Given the description of an element on the screen output the (x, y) to click on. 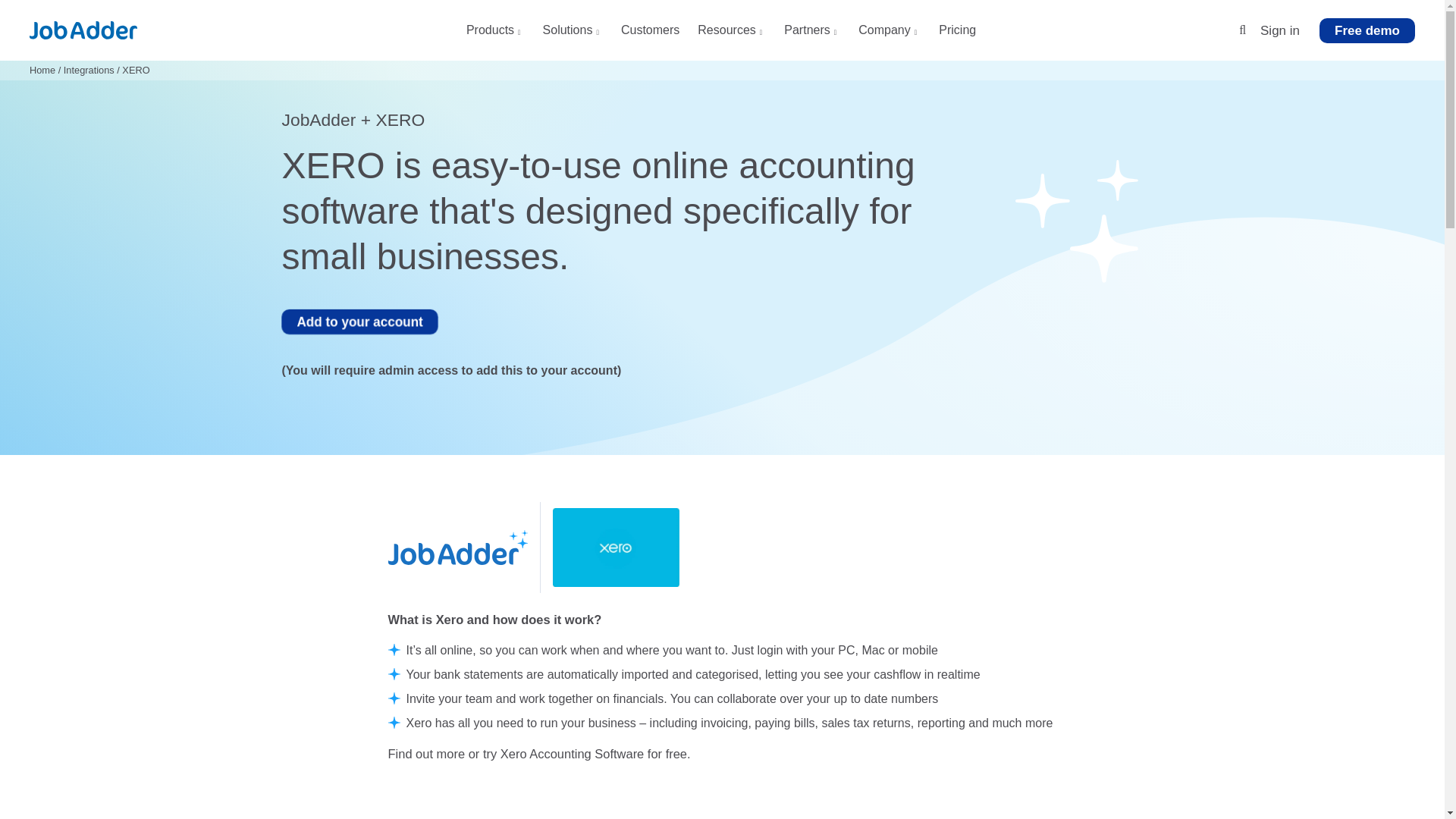
Resources (731, 34)
Customers (650, 34)
Solutions (572, 34)
Products (494, 34)
